Given the description of an element on the screen output the (x, y) to click on. 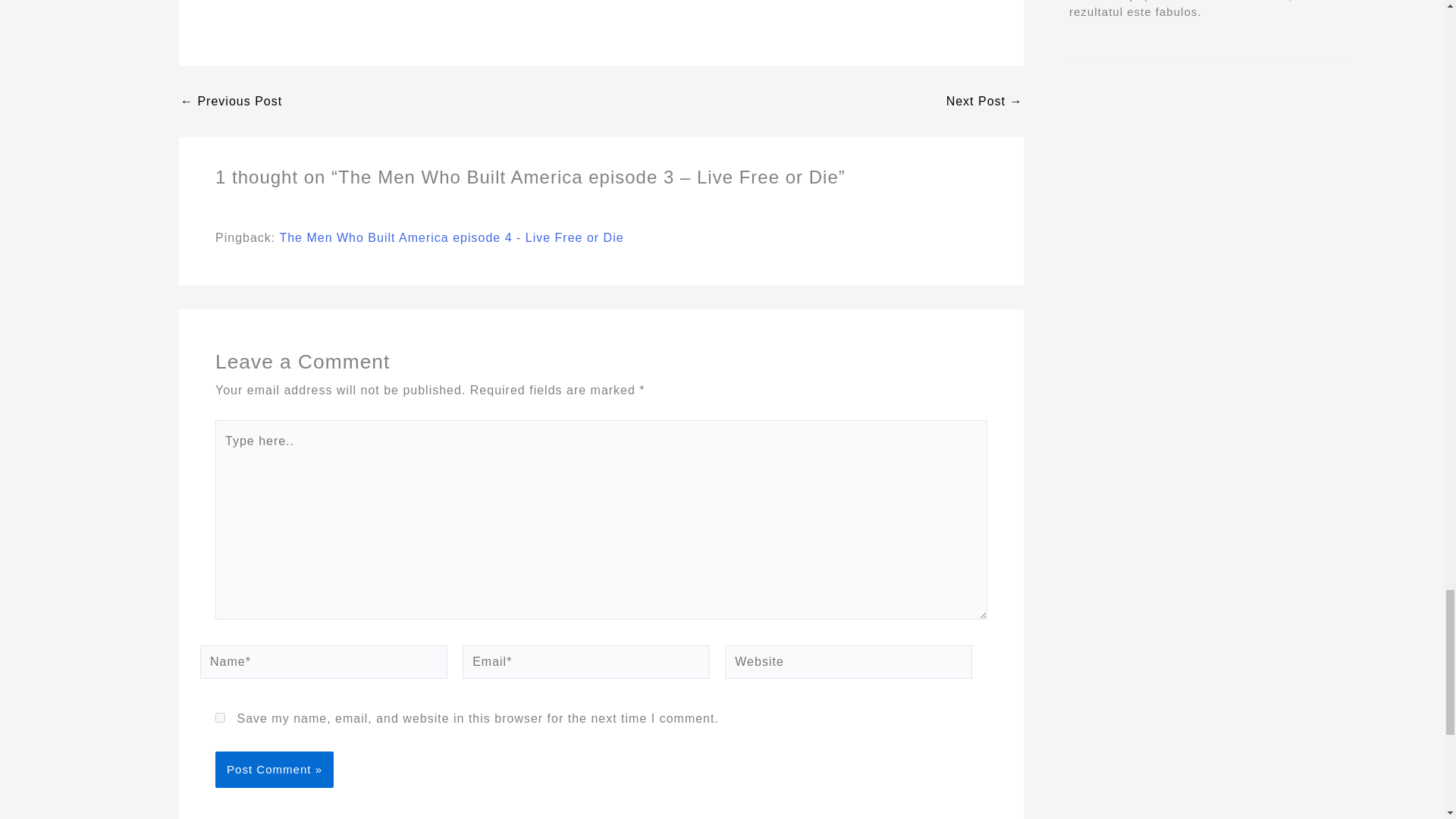
yes (220, 717)
The Men Who Built America episode 4 - Empire or Liberty (984, 101)
